Given the description of an element on the screen output the (x, y) to click on. 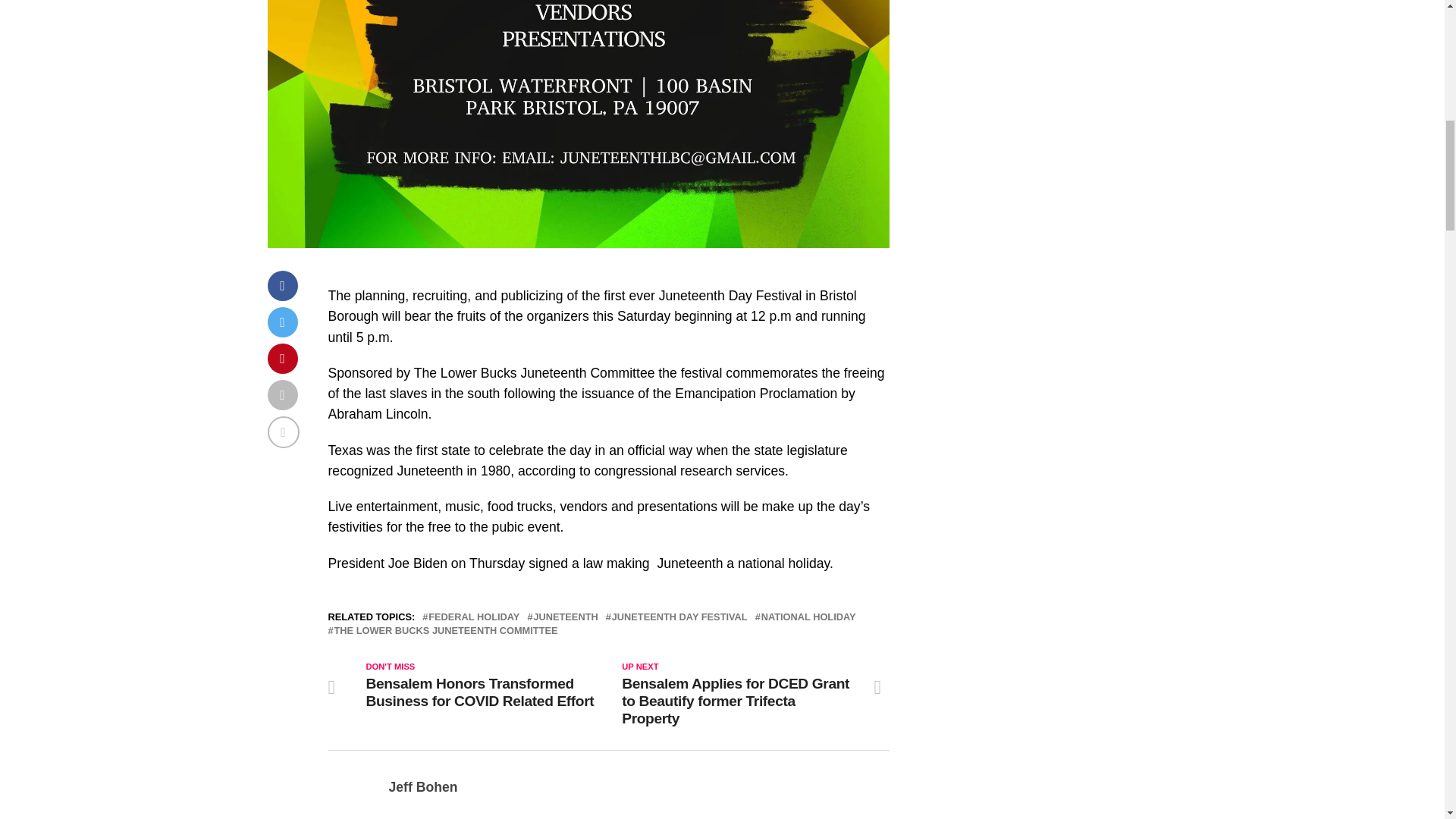
JUNETEENTH DAY FESTIVAL (679, 617)
JUNETEENTH (564, 617)
FEDERAL HOLIDAY (473, 617)
Posts by Jeff Bohen (422, 786)
